Given the description of an element on the screen output the (x, y) to click on. 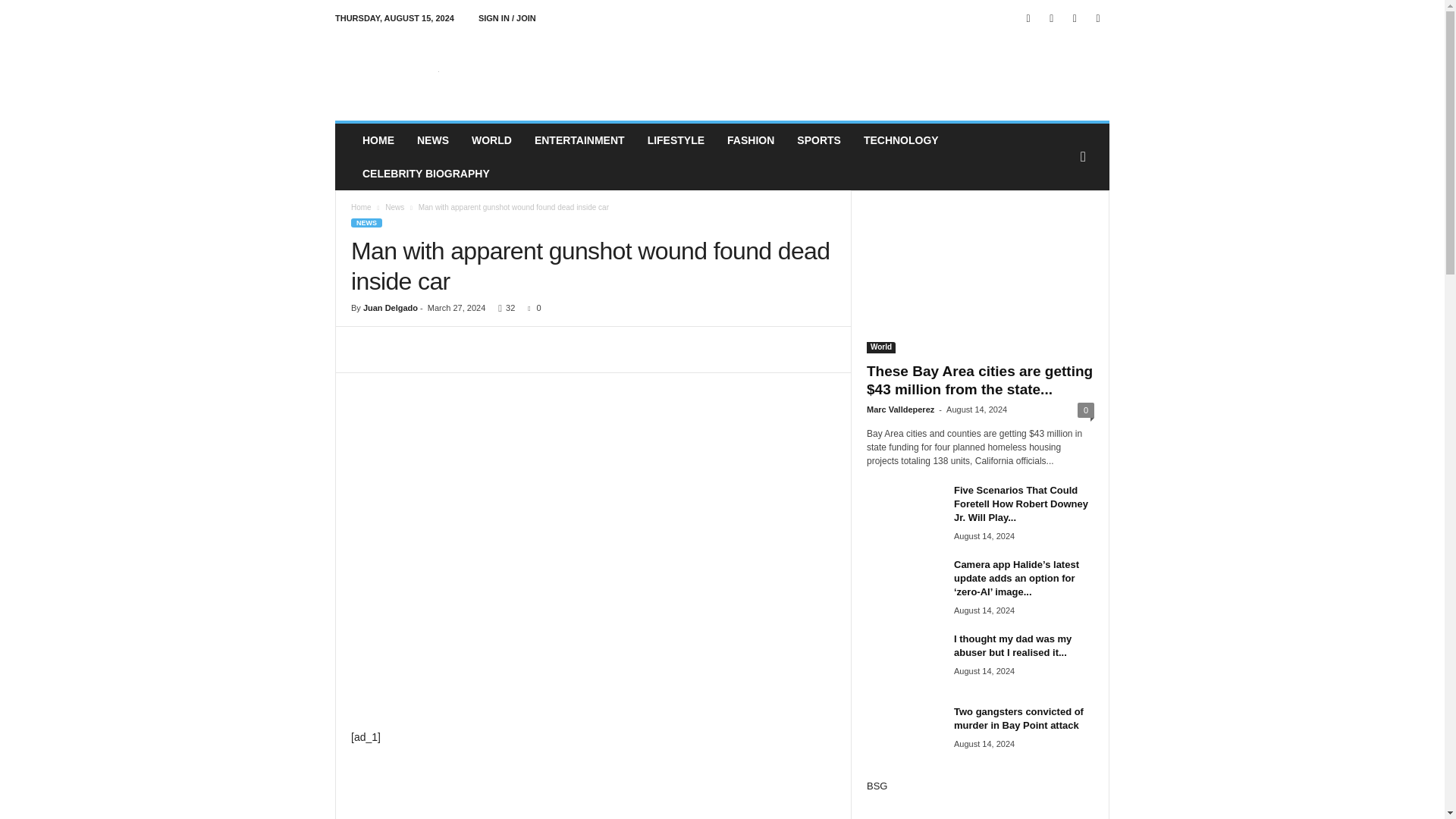
ENTERTAINMENT (579, 140)
HOME (378, 140)
View all posts in News (394, 207)
WORLD (491, 140)
Tribun Kepo (437, 70)
LIFESTYLE (676, 140)
NEWS (433, 140)
FASHION (751, 140)
TECHNOLOGY (900, 140)
CELEBRITY BIOGRAPHY (425, 173)
